Given the description of an element on the screen output the (x, y) to click on. 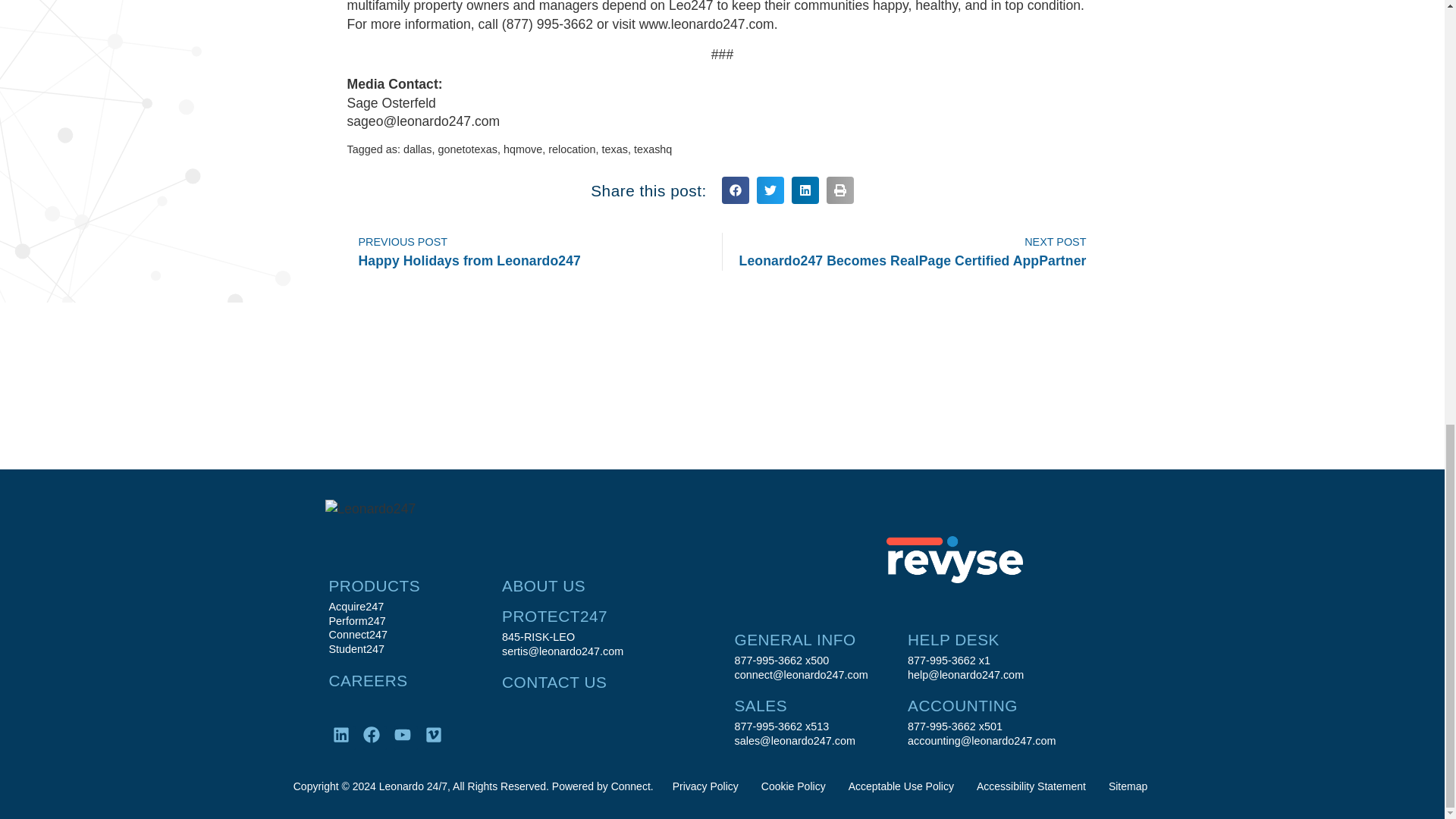
follow us on Vimeo - opens in new tab (436, 738)
follow us on YouTube - opens in new tab (405, 738)
follow us on LinkedIn - opens in new tab (343, 738)
follow us on Facebook - opens in new tab (374, 738)
